Given the description of an element on the screen output the (x, y) to click on. 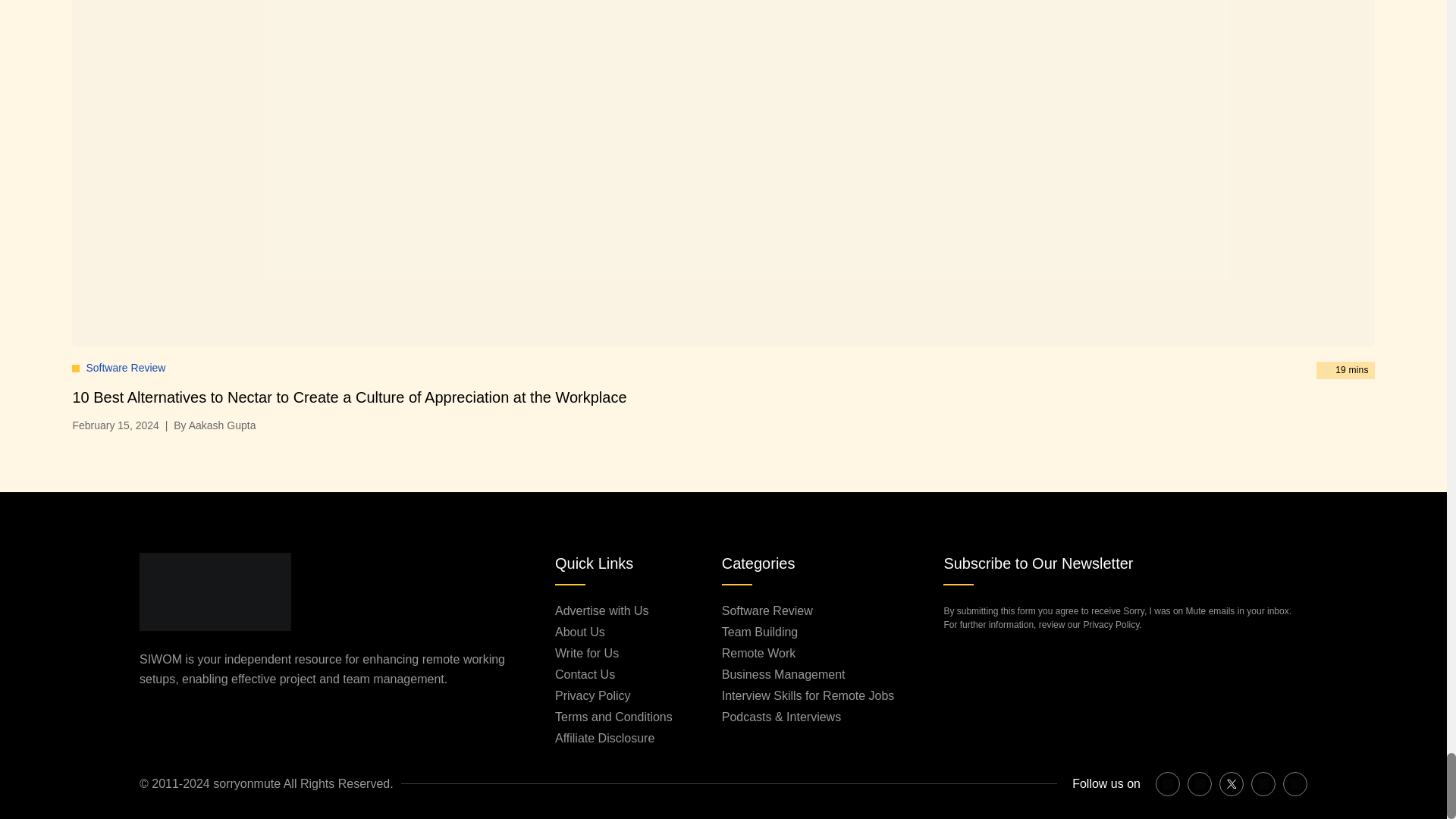
Software Review (125, 367)
